Given the description of an element on the screen output the (x, y) to click on. 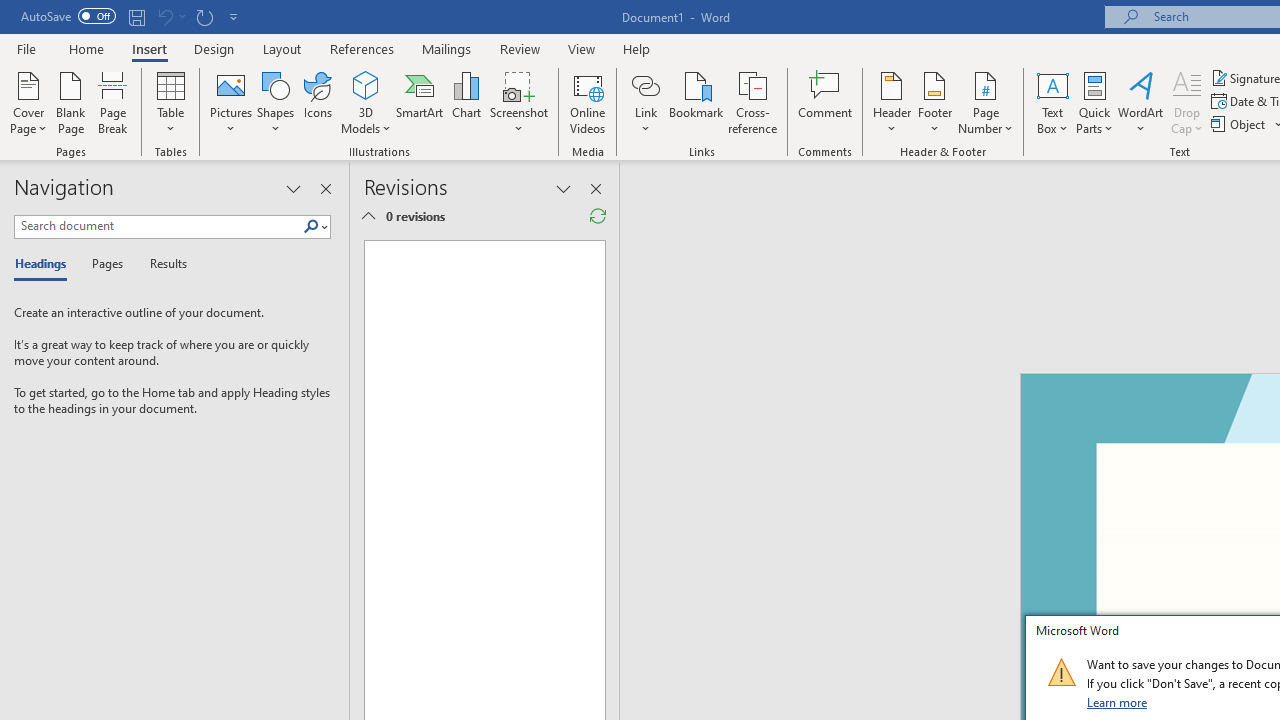
Task Pane Options (293, 188)
System (10, 11)
Headings (45, 264)
Customize Quick Access Toolbar (234, 15)
Cover Page (28, 102)
Shapes (275, 102)
Learn more (1118, 702)
Comment (825, 102)
Screenshot (518, 102)
Mailings (447, 48)
3D Models (366, 102)
Blank Page (70, 102)
Home (86, 48)
Show Detailed Summary (368, 215)
